Given the description of an element on the screen output the (x, y) to click on. 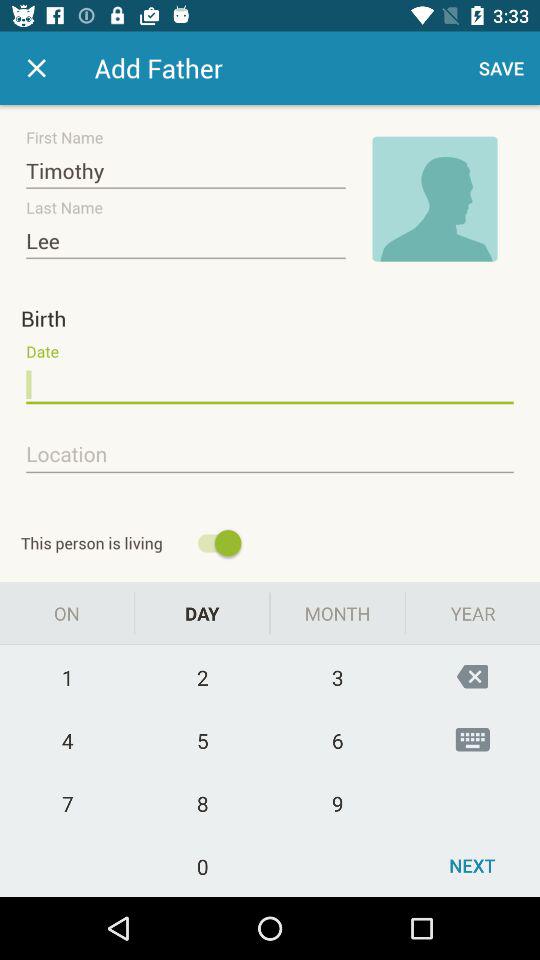
close the window (36, 68)
